Given the description of an element on the screen output the (x, y) to click on. 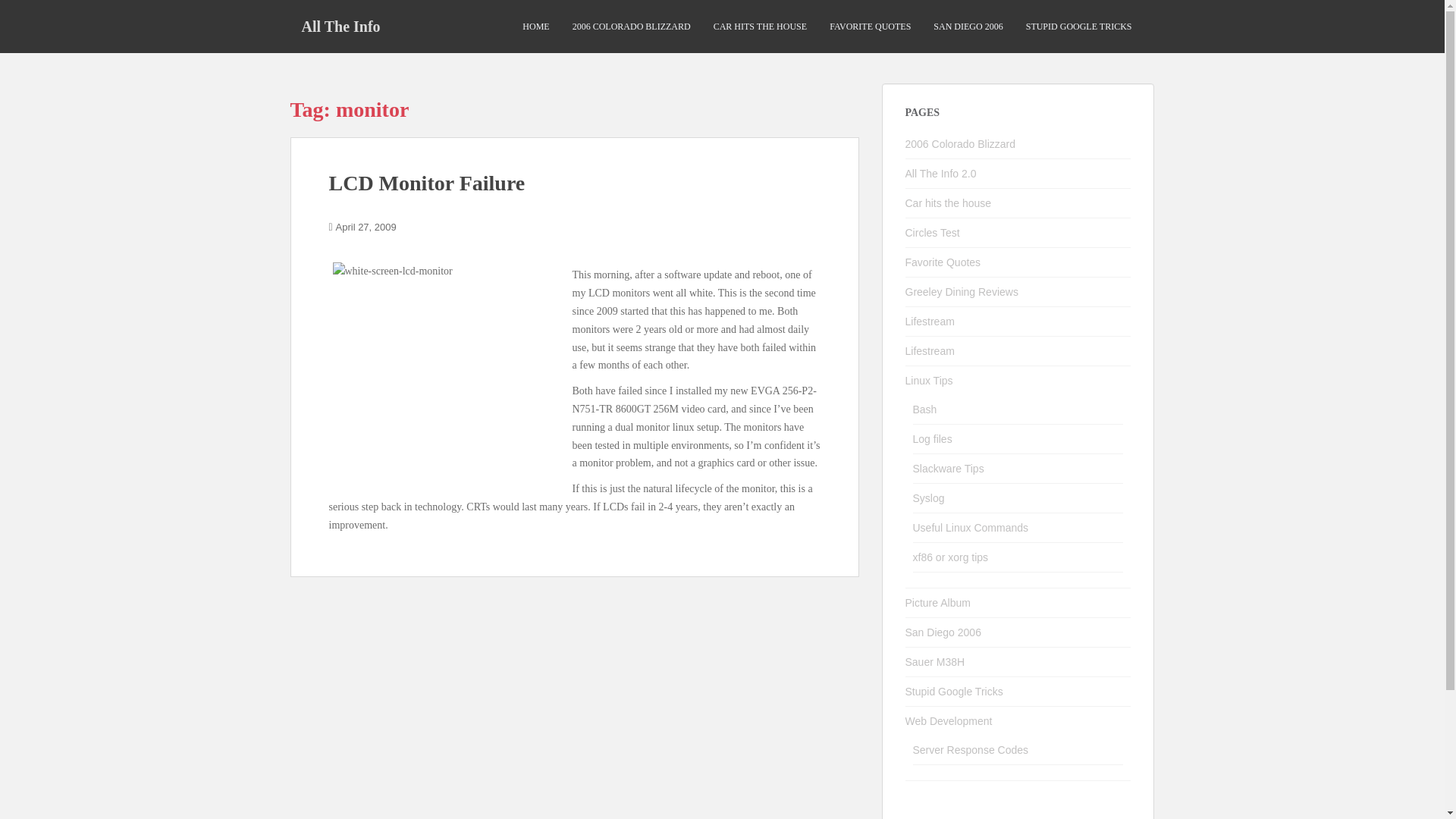
Picture Album (938, 603)
Car hits the house (948, 203)
Web Development (948, 720)
Linux Tips (929, 380)
LCD Monitor Failure (427, 182)
xf86 or xorg tips (950, 557)
All The Info (340, 26)
2006 Colorado Blizzard (960, 143)
2006 COLORADO BLIZZARD (631, 26)
Greeley Dining Reviews (961, 291)
Lifestream (930, 321)
All The Info 2.0 (940, 173)
All The Info (340, 26)
Server Response Codes (970, 749)
Syslog (928, 498)
